Given the description of an element on the screen output the (x, y) to click on. 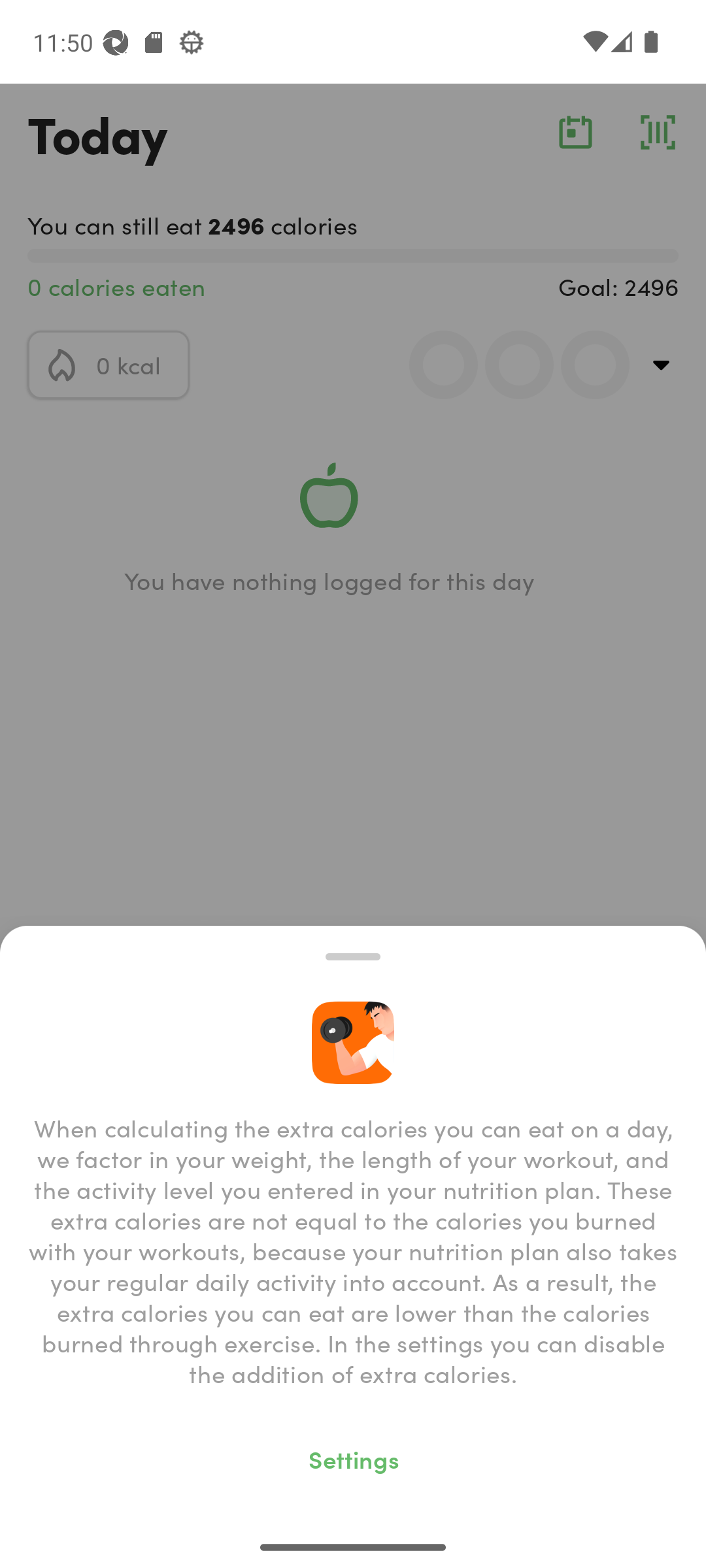
Settings (353, 1458)
